Given the description of an element on the screen output the (x, y) to click on. 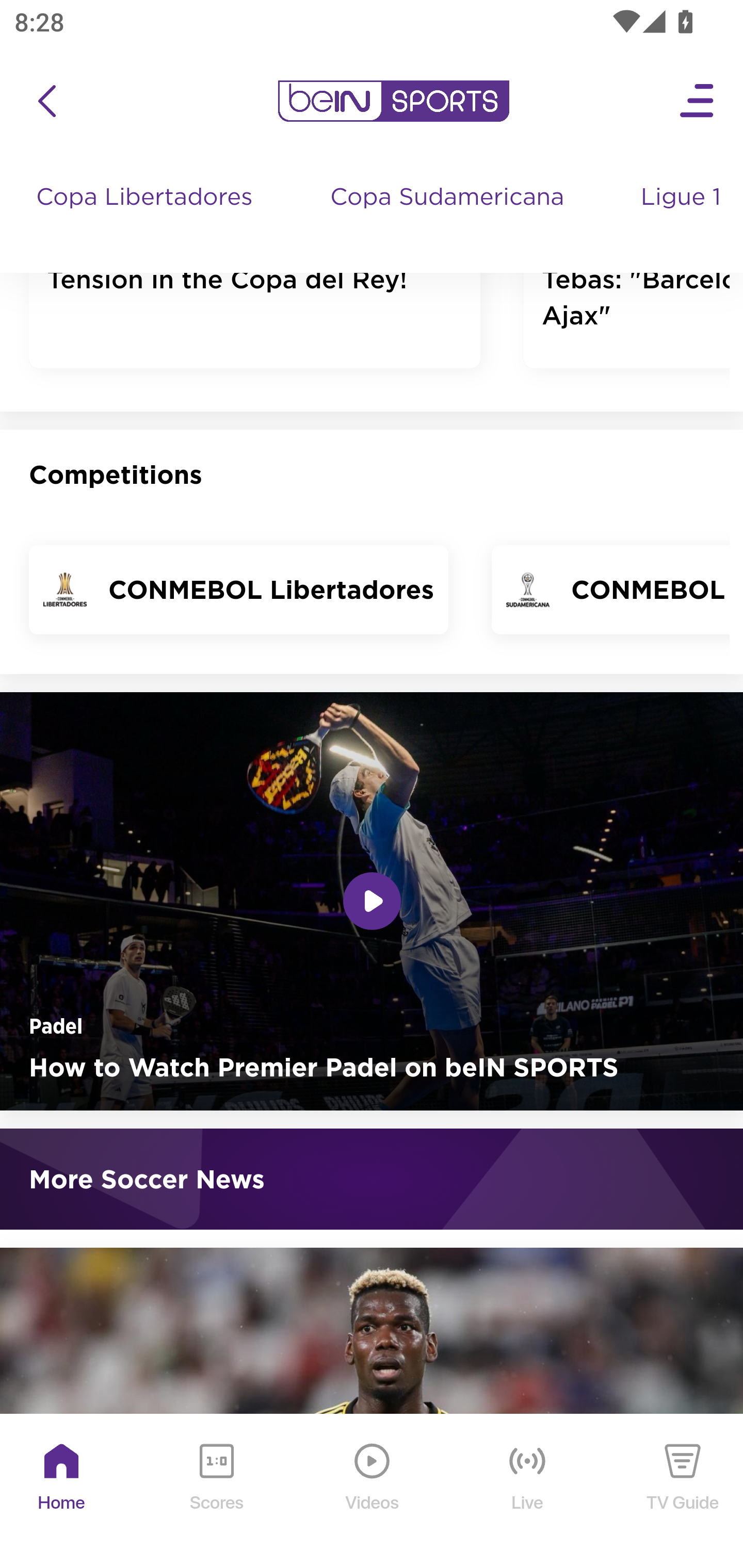
en-us?platform=mobile_android bein logo (392, 101)
icon back (46, 101)
Open Menu Icon (697, 101)
Copa Libertadores (146, 216)
Copa Sudamericana (448, 216)
Ligue 1 (682, 216)
Home Home Icon Home (61, 1493)
Scores Scores Icon Scores (216, 1493)
Videos Videos Icon Videos (372, 1493)
TV Guide TV Guide Icon TV Guide (682, 1493)
